Given the description of an element on the screen output the (x, y) to click on. 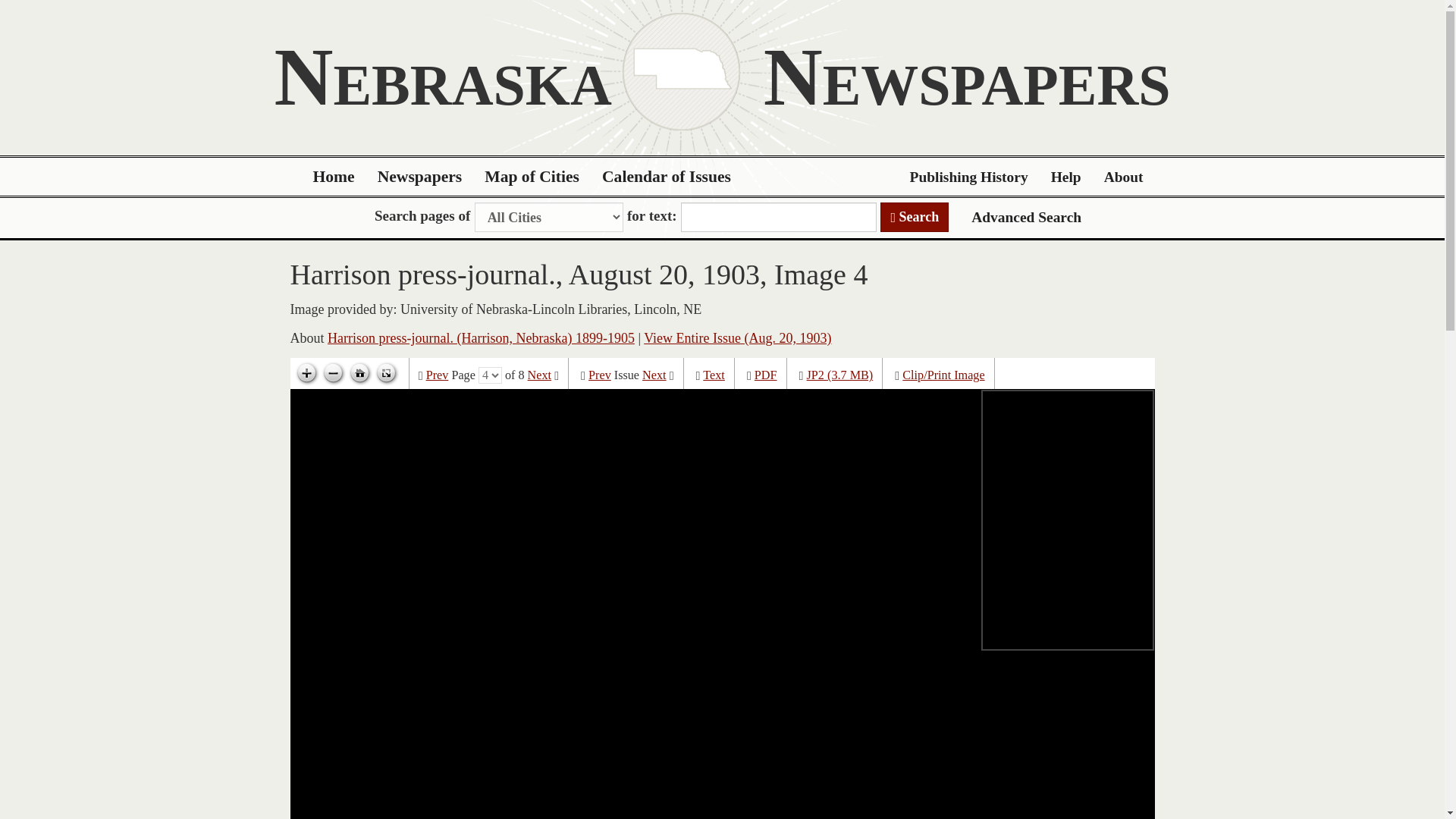
Home (333, 176)
About (1123, 176)
PDF (765, 375)
Prev (599, 375)
Help (1066, 176)
Zoom out (333, 373)
Next (653, 375)
Search (914, 217)
Text (714, 375)
Toggle full page (385, 373)
